Given the description of an element on the screen output the (x, y) to click on. 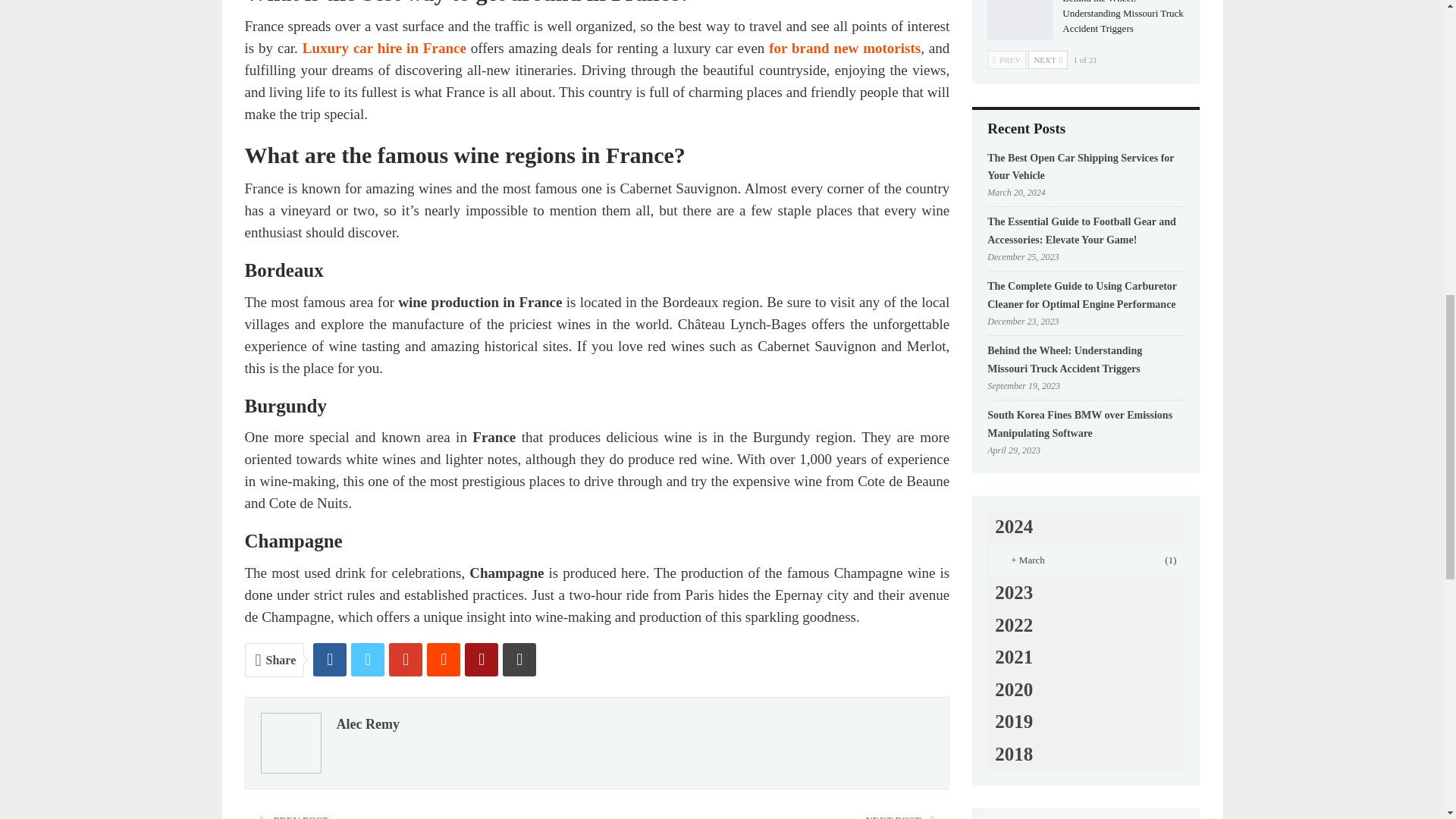
Luxury car hire in France (383, 48)
Alec Remy (367, 723)
for brand new motorists (844, 48)
